Given the description of an element on the screen output the (x, y) to click on. 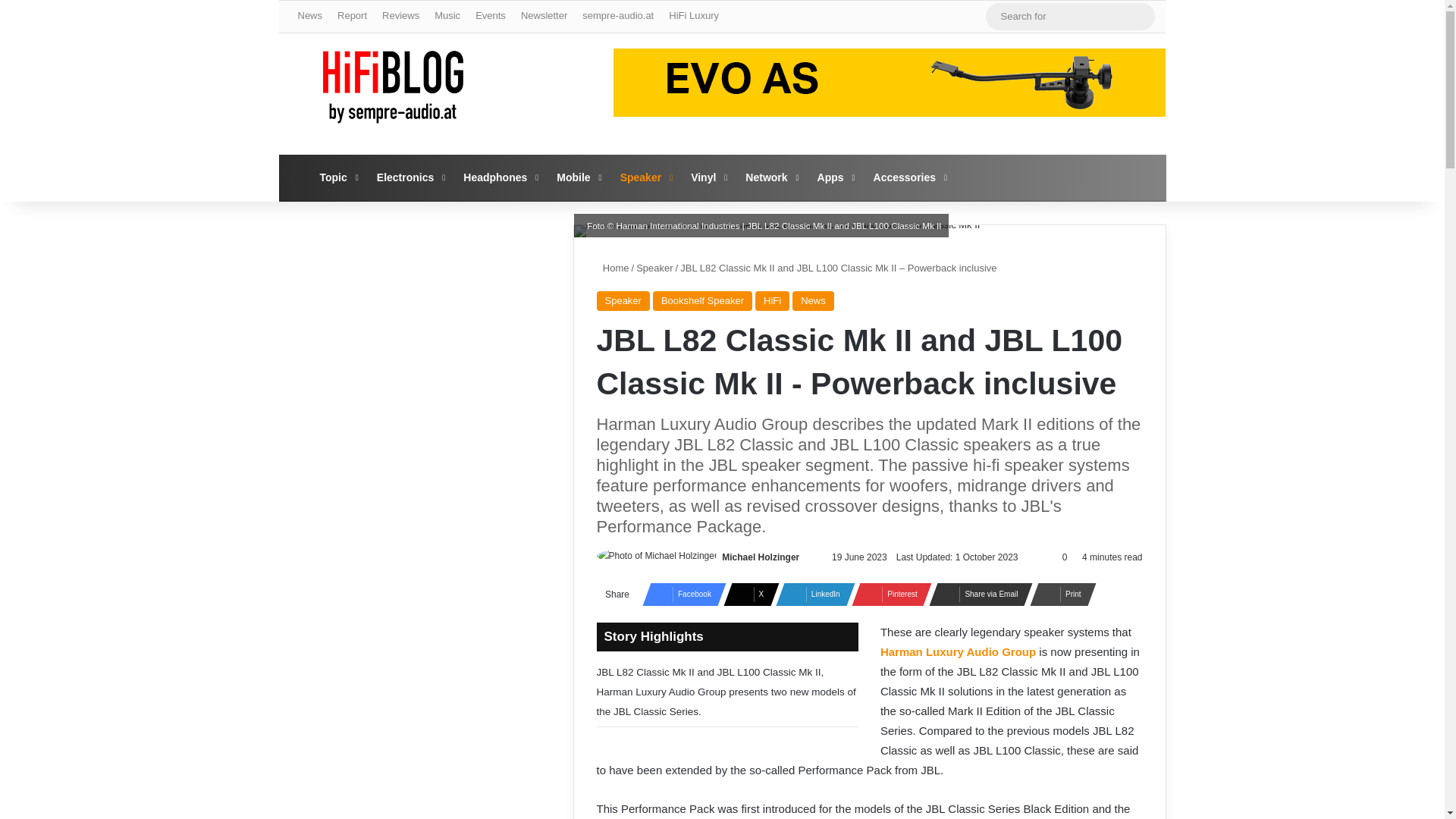
X (746, 594)
HiFi BLOG (392, 86)
Michael Holzinger (760, 557)
Facebook (679, 594)
LinkedIn (810, 594)
Search for (1139, 16)
News (309, 15)
Report (352, 15)
Newsletter (544, 15)
Events (490, 15)
Topic (337, 176)
Electronics (409, 176)
Music (446, 15)
sempre-audio.at (618, 15)
HiFi Luxury (693, 15)
